Given the description of an element on the screen output the (x, y) to click on. 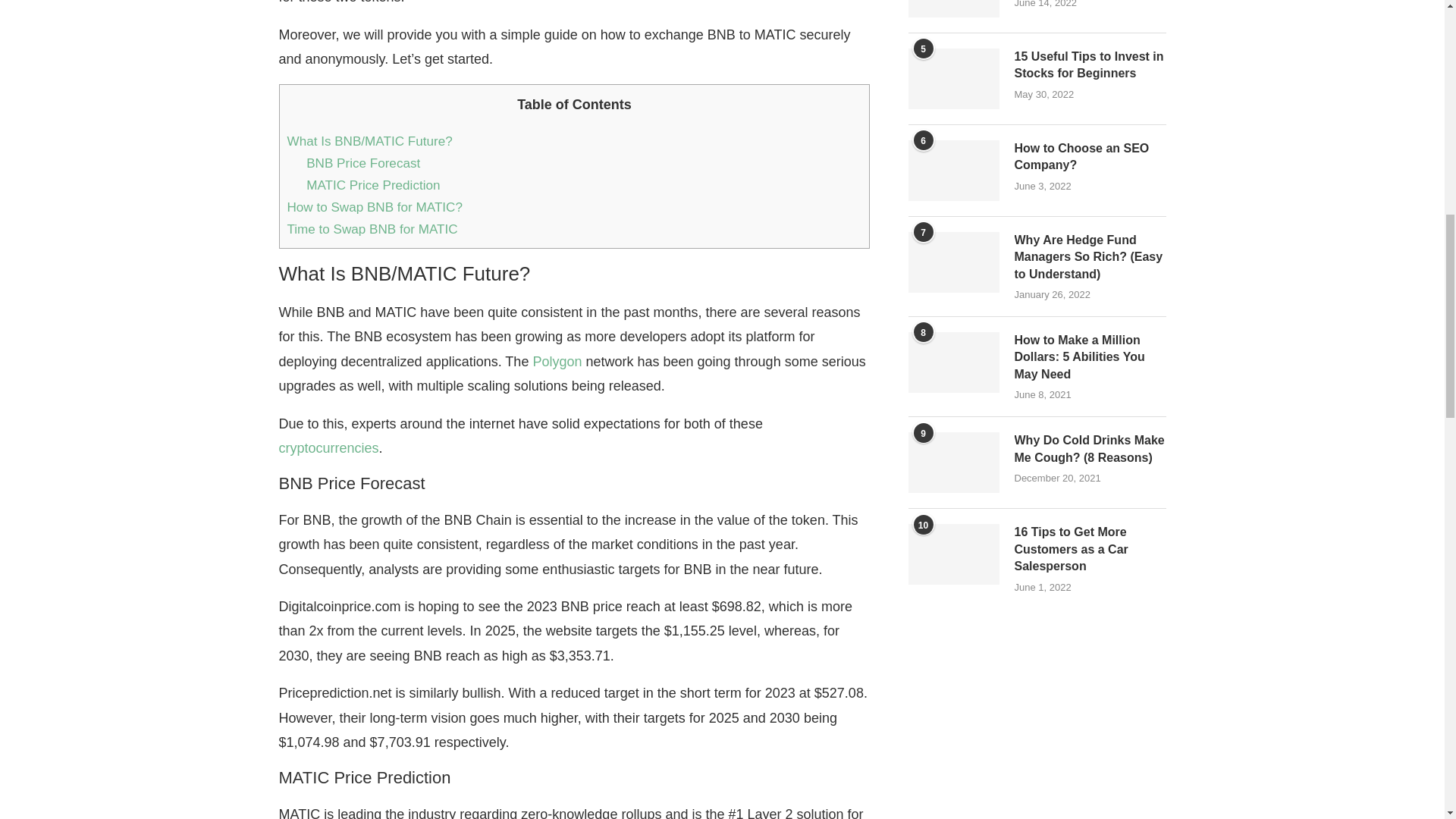
How to Swap BNB for MATIC? (373, 206)
cryptocurrencies (328, 447)
BNB Price Forecast (362, 163)
Polygon (556, 361)
MATIC Price Prediction (372, 185)
Time to Swap BNB for MATIC  (373, 228)
